Given the description of an element on the screen output the (x, y) to click on. 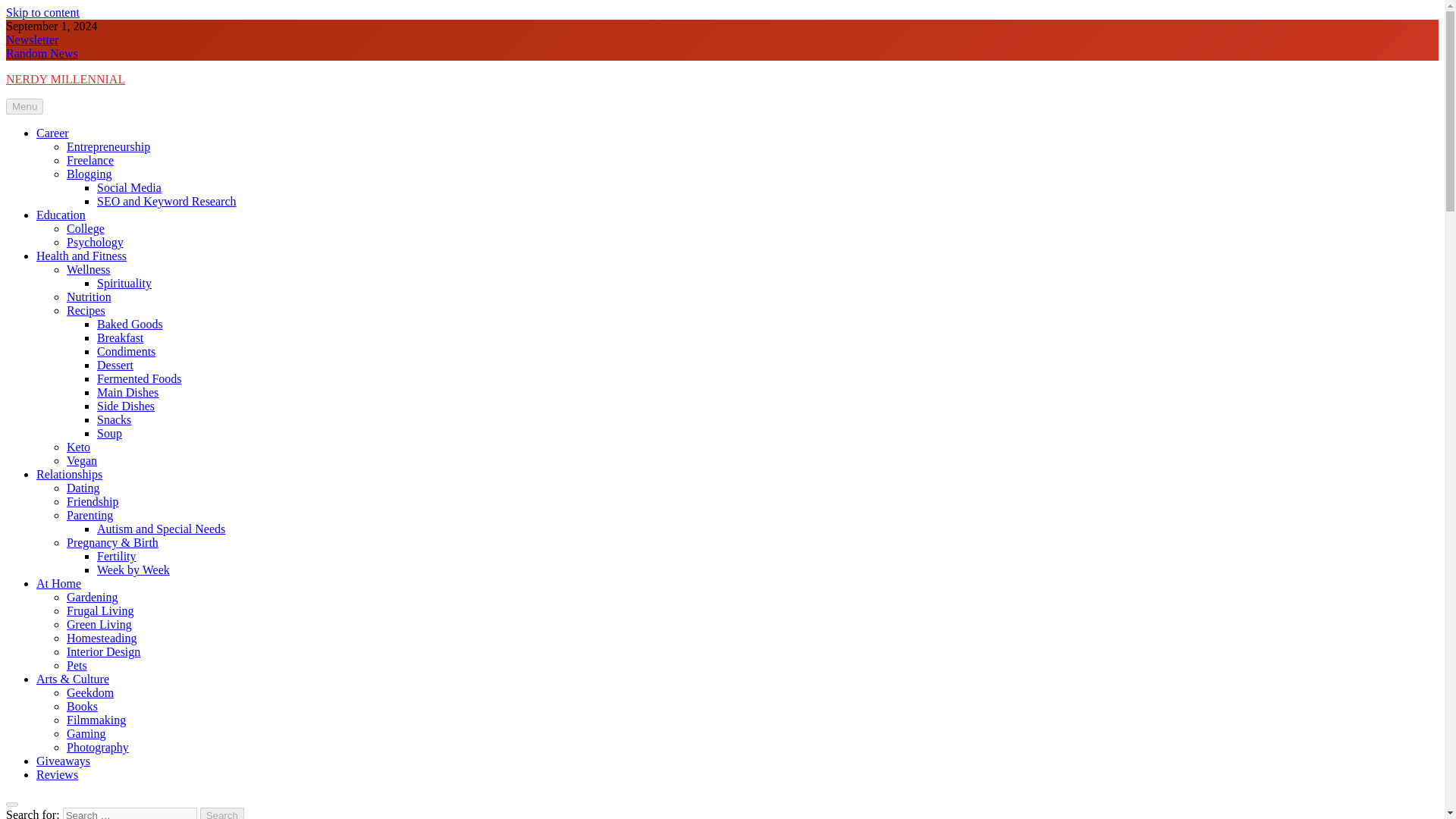
Week by Week (133, 569)
Dating (83, 487)
Menu (24, 106)
Nutrition (89, 296)
Side Dishes (125, 405)
Keto (78, 446)
Parenting (89, 514)
Social Media (129, 187)
Breakfast (119, 337)
Baked Goods (130, 323)
